Given the description of an element on the screen output the (x, y) to click on. 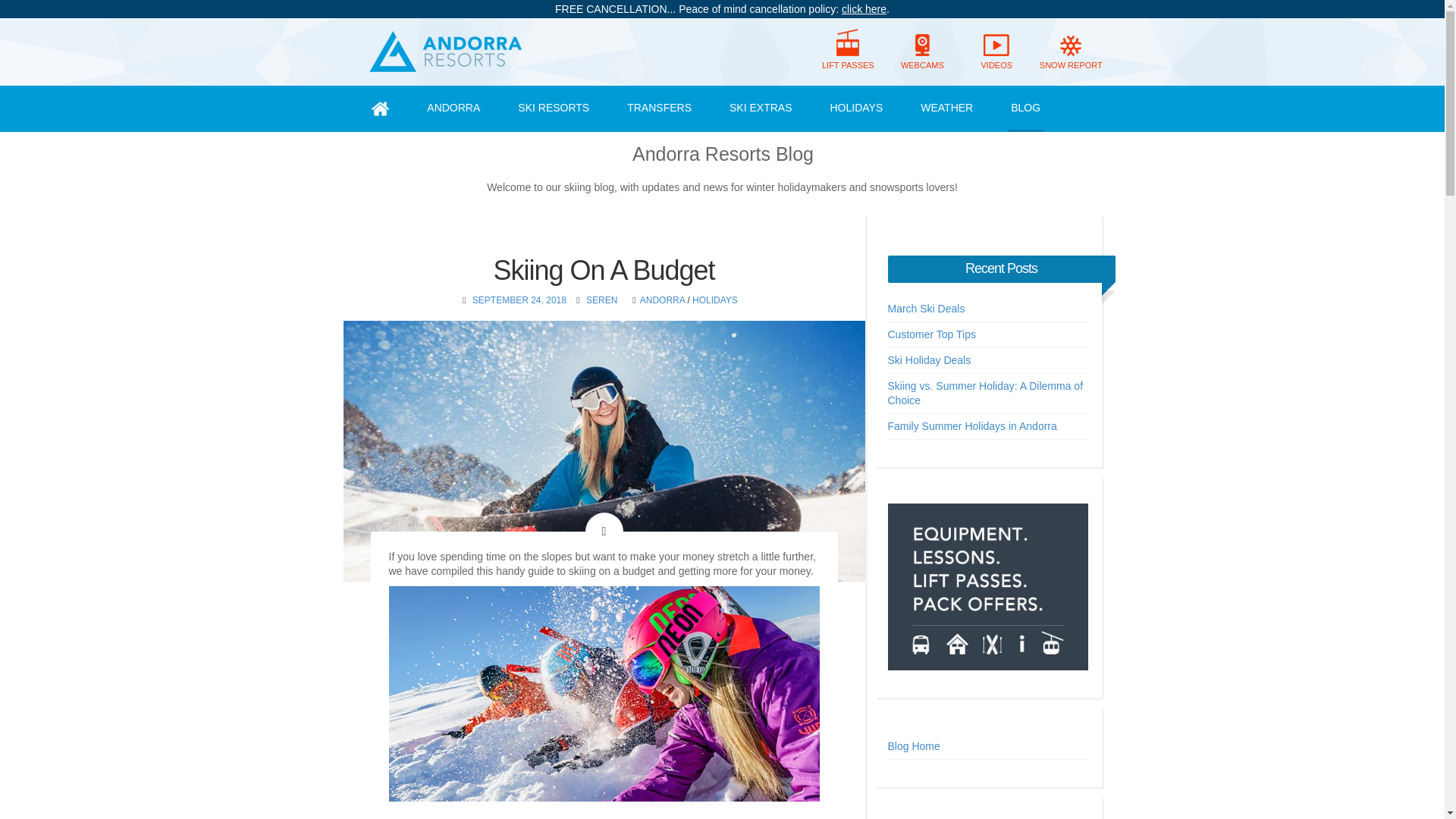
SKI RESORTS (553, 108)
SNOW REPORT (1070, 51)
SKI EXTRAS (760, 108)
Peace of mind (863, 9)
TRANSFERS (659, 108)
WEBCAMS (922, 51)
WEATHER (946, 108)
VIDEOS (996, 51)
HOLIDAYS (856, 108)
LIFT PASSES (847, 51)
click here (863, 9)
ANDORRA (453, 108)
